Given the description of an element on the screen output the (x, y) to click on. 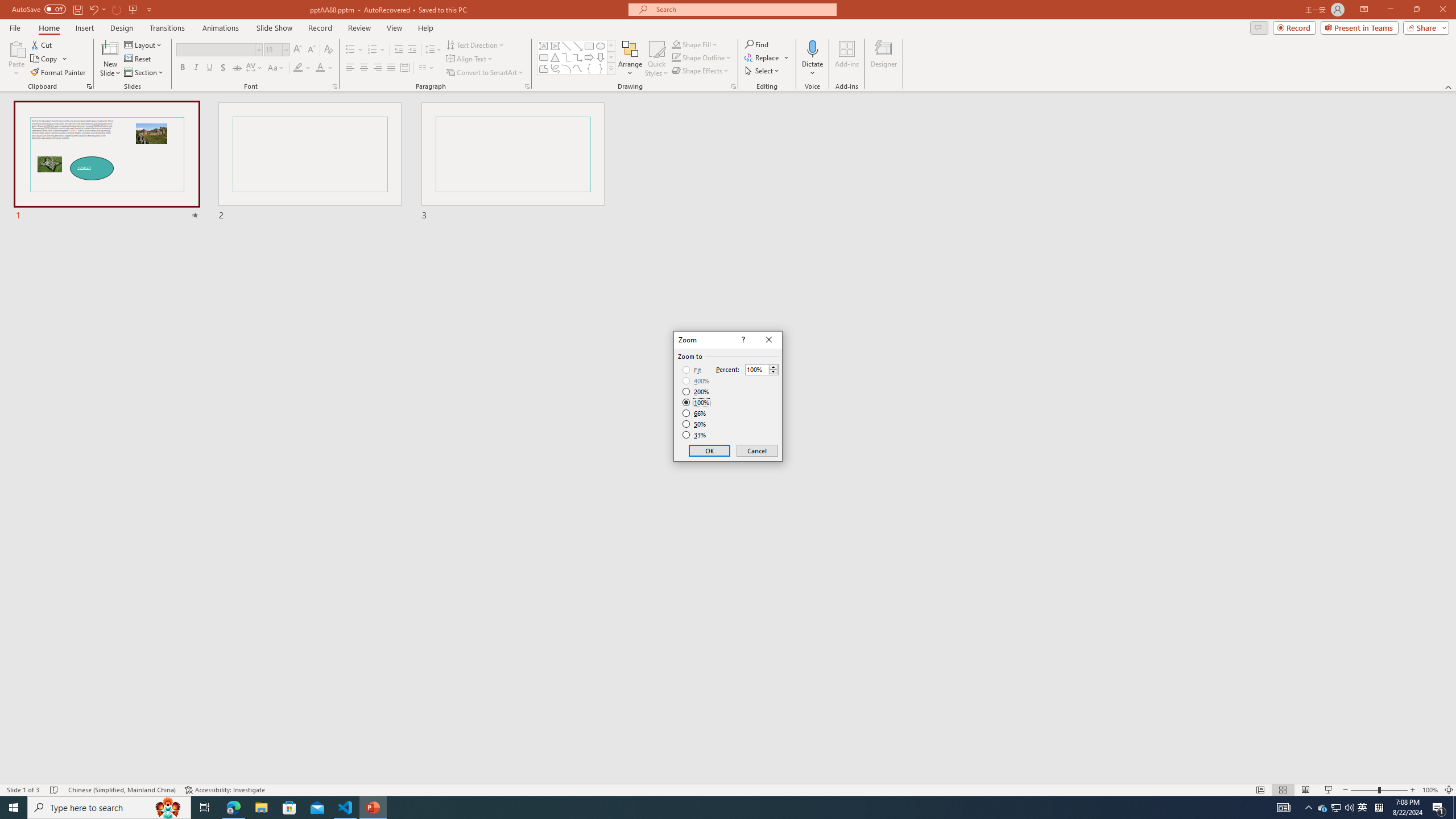
200% (696, 391)
Cancel (756, 450)
Percent (756, 369)
66% (694, 412)
